Given the description of an element on the screen output the (x, y) to click on. 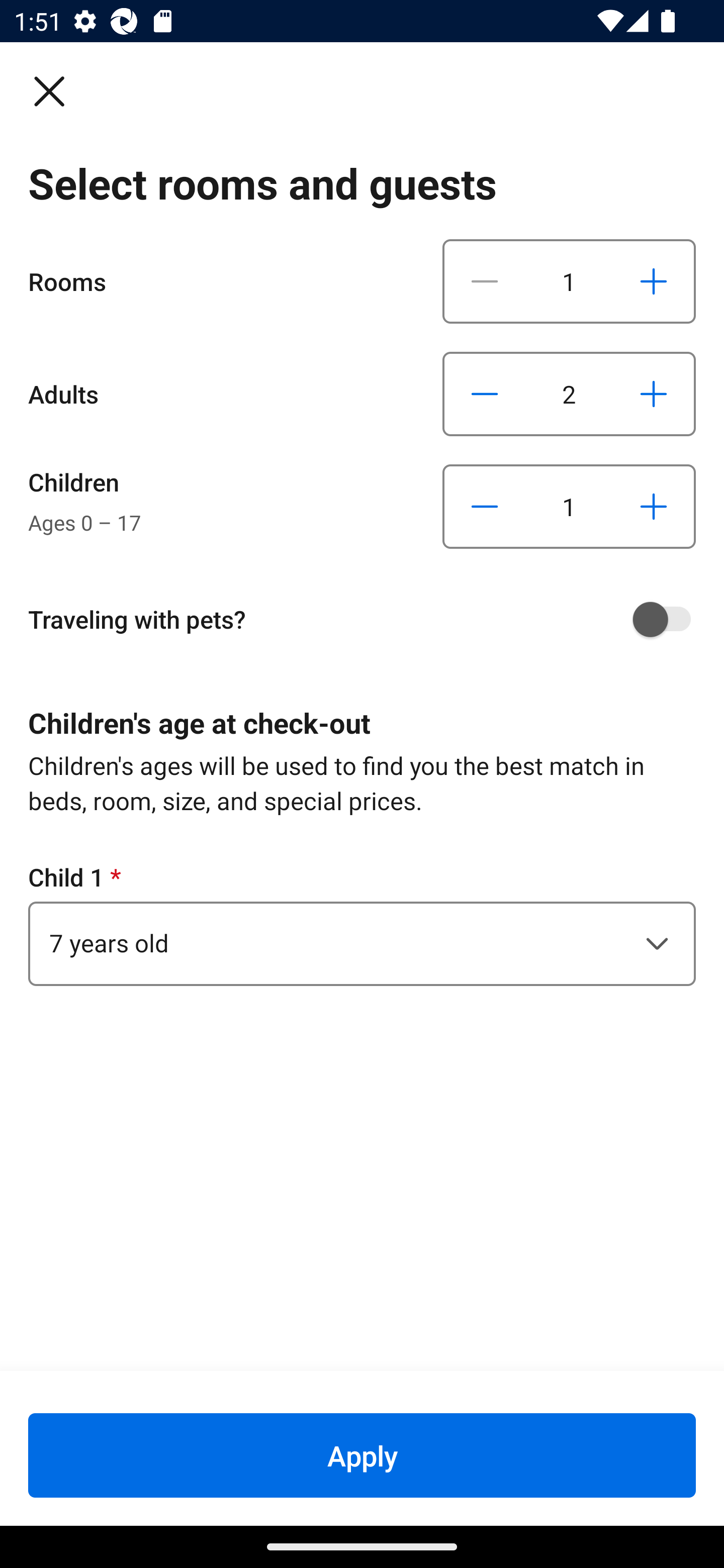
Decrease (484, 281)
Increase (653, 281)
Decrease (484, 393)
Increase (653, 393)
Decrease (484, 506)
Increase (653, 506)
Traveling with pets? (369, 619)
Child 1
required Child 1 * 7 years old (361, 922)
Apply (361, 1454)
